Given the description of an element on the screen output the (x, y) to click on. 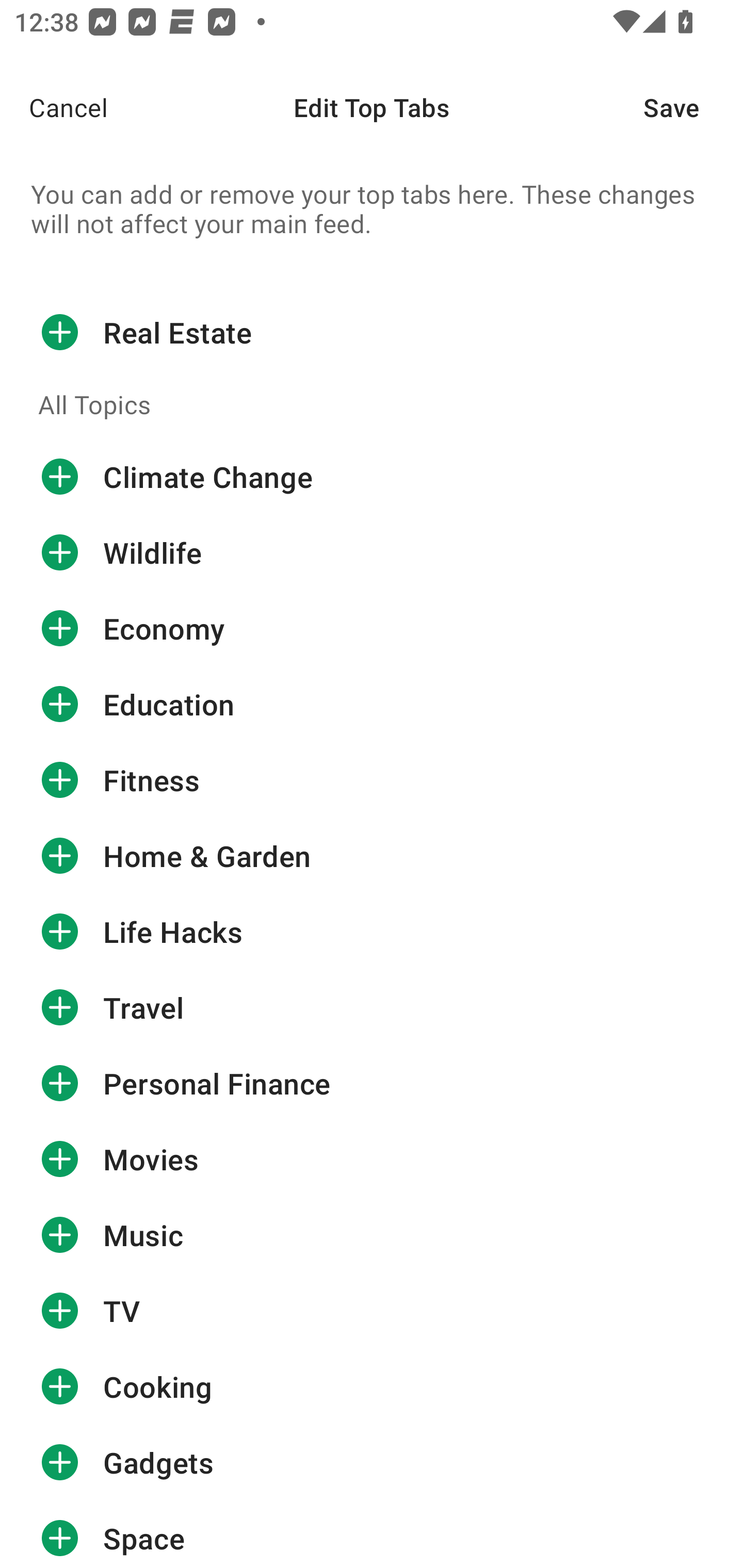
Cancel (53, 106)
Save (693, 106)
Real Estate (371, 332)
Climate Change (371, 476)
Wildlife (371, 552)
Economy (371, 628)
Education (371, 703)
Fitness (371, 779)
Home & Garden (371, 855)
Life Hacks (371, 931)
Travel (371, 1007)
Personal Finance (371, 1083)
Movies (371, 1158)
Music (371, 1234)
TV (371, 1310)
Cooking (371, 1386)
Gadgets (371, 1462)
Space (371, 1534)
